Given the description of an element on the screen output the (x, y) to click on. 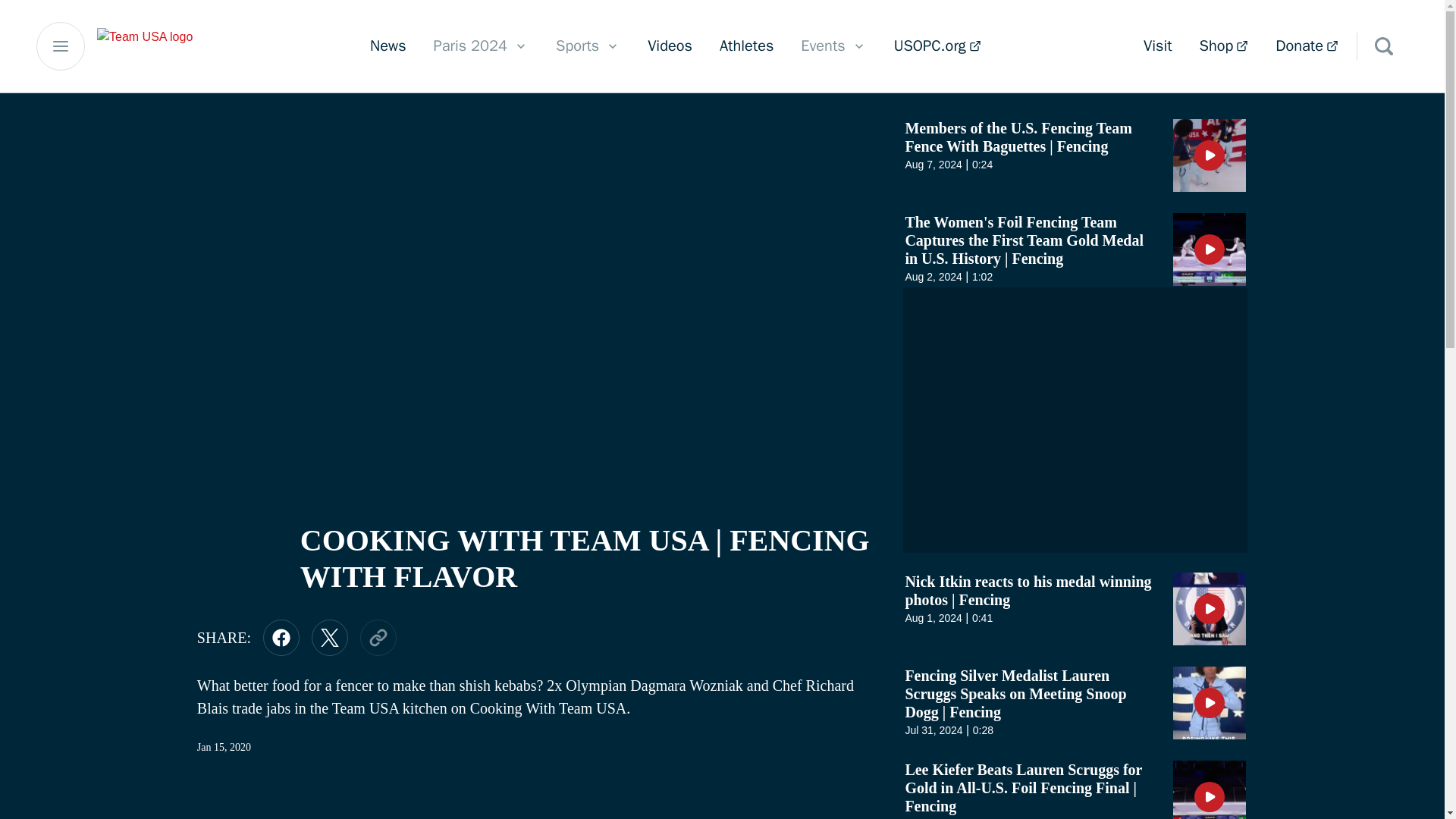
News (387, 46)
Sports (587, 46)
, OPENS IN A NEW TAB (937, 46)
Visit (329, 637)
Athletes (1157, 46)
, OPENS IN A NEW TAB (746, 46)
Videos (281, 637)
Paris 2024 (670, 46)
